Given the description of an element on the screen output the (x, y) to click on. 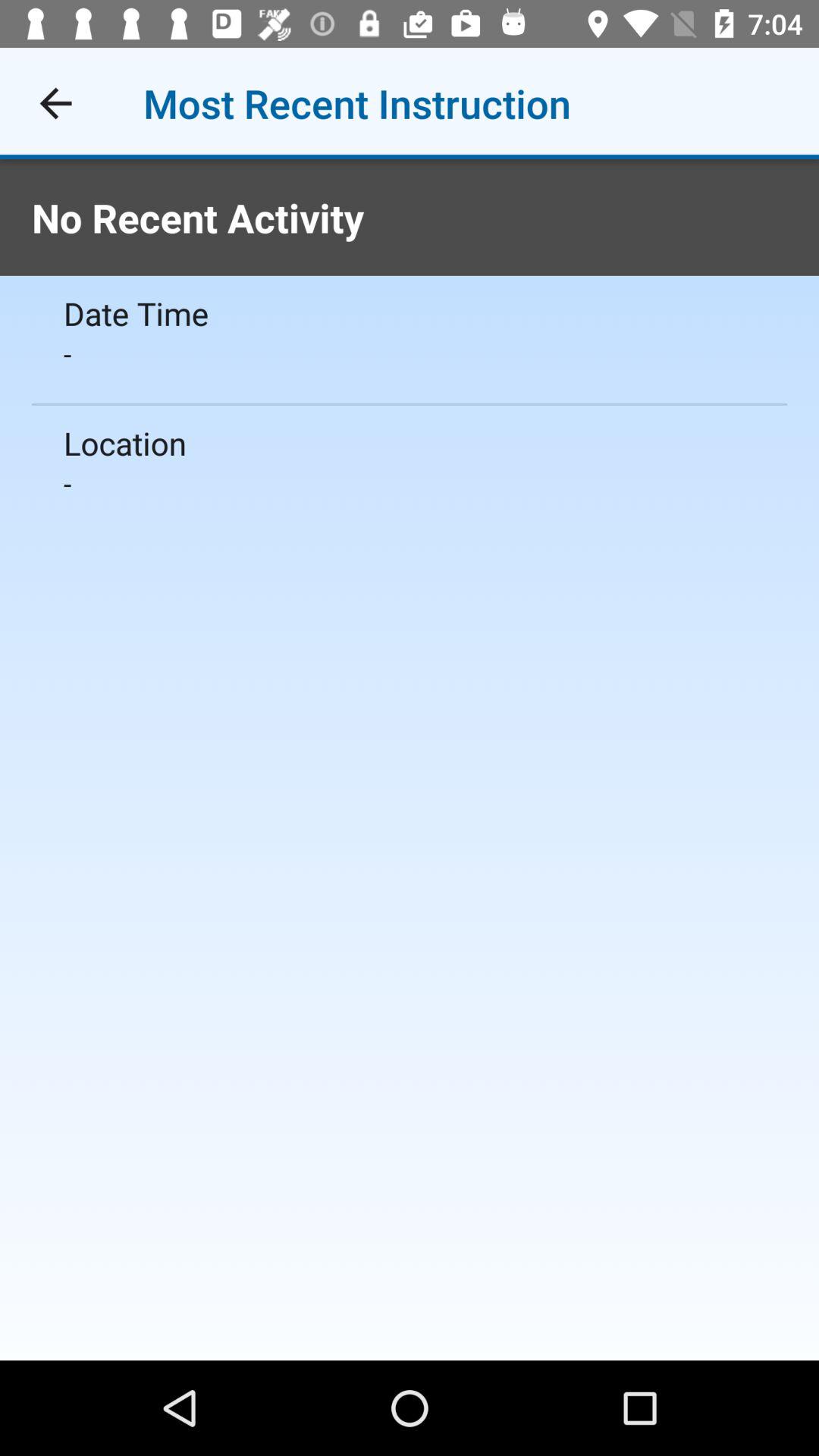
launch the icon above - item (409, 442)
